Given the description of an element on the screen output the (x, y) to click on. 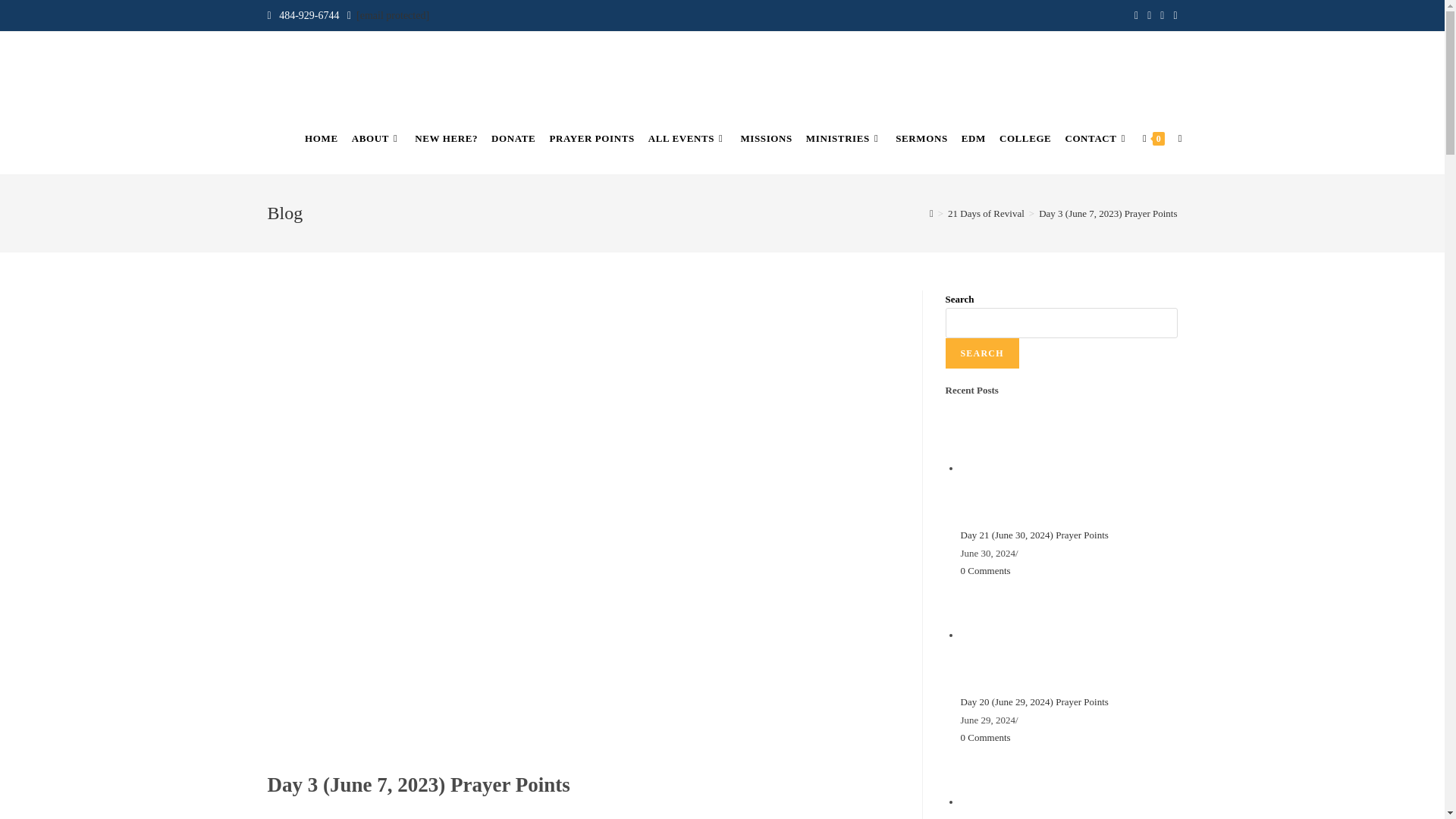
COLLEGE (1025, 138)
SERMONS (921, 138)
MINISTRIES (843, 138)
CONTACT (1096, 138)
PRAYER POINTS (590, 138)
ALL EVENTS (687, 138)
NEW HERE? (445, 138)
MISSIONS (765, 138)
ABOUT (377, 138)
